Given the description of an element on the screen output the (x, y) to click on. 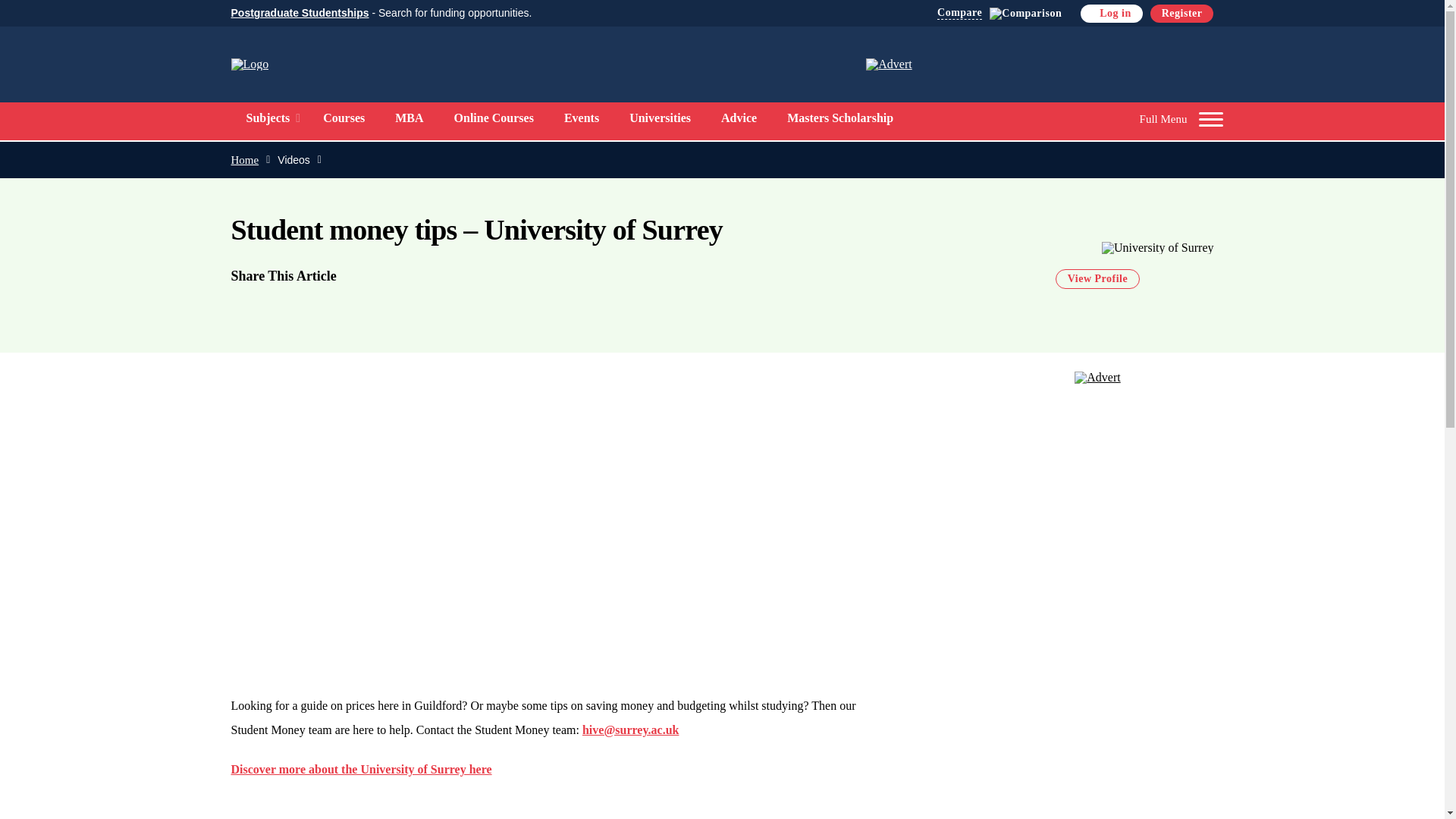
Postgraduate Studentships (299, 12)
Subjects (267, 118)
Compare (999, 13)
Log in (1111, 13)
Register (1182, 13)
